Given the description of an element on the screen output the (x, y) to click on. 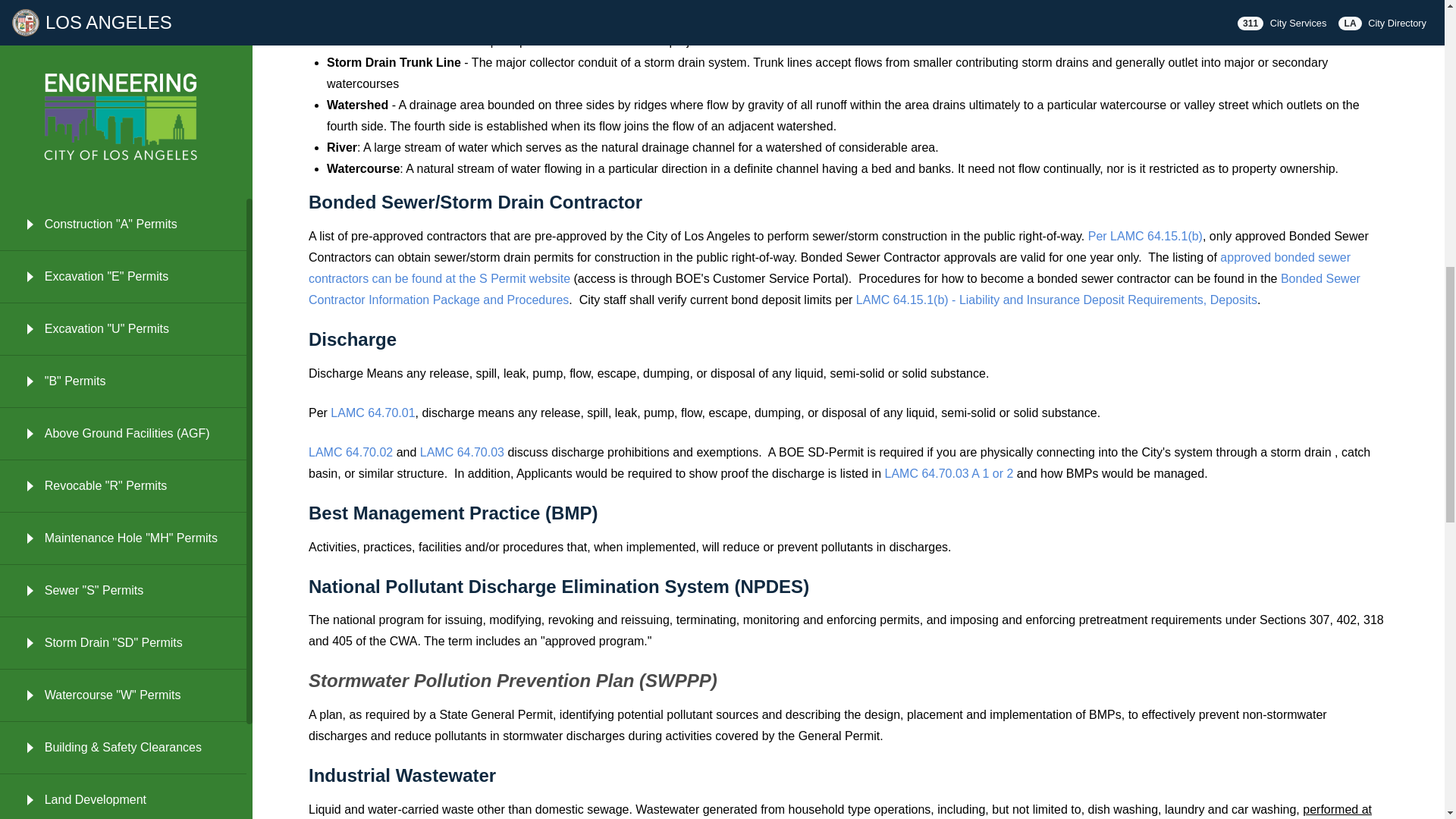
LAMC 64.70.03 A 1 or 2  (461, 451)
Bonded Sewer Contractor Information Package and Procedures (833, 288)
Customer Service Portal Sewer Permit Access (829, 267)
Bonded Sewer Contractor Information Package and Procedures (833, 288)
LAMC 64.70.02 (350, 451)
LAMC 64.70.01 (372, 412)
LAMC 64.15.1 (1144, 236)
LAMC 64.70.03 A 1 or 2  (950, 472)
